Given the description of an element on the screen output the (x, y) to click on. 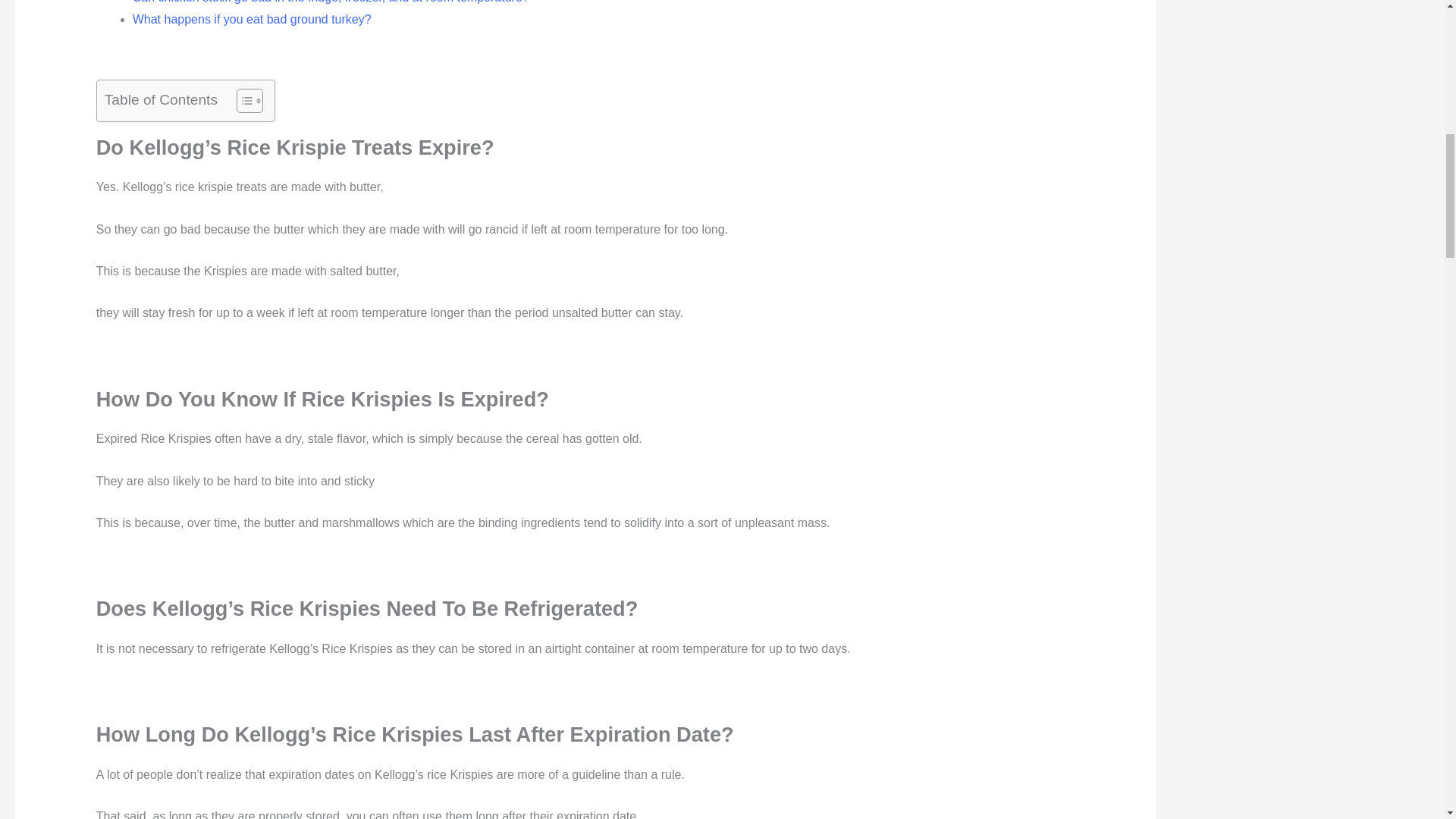
What happens if you eat bad ground turkey? (251, 19)
